Given the description of an element on the screen output the (x, y) to click on. 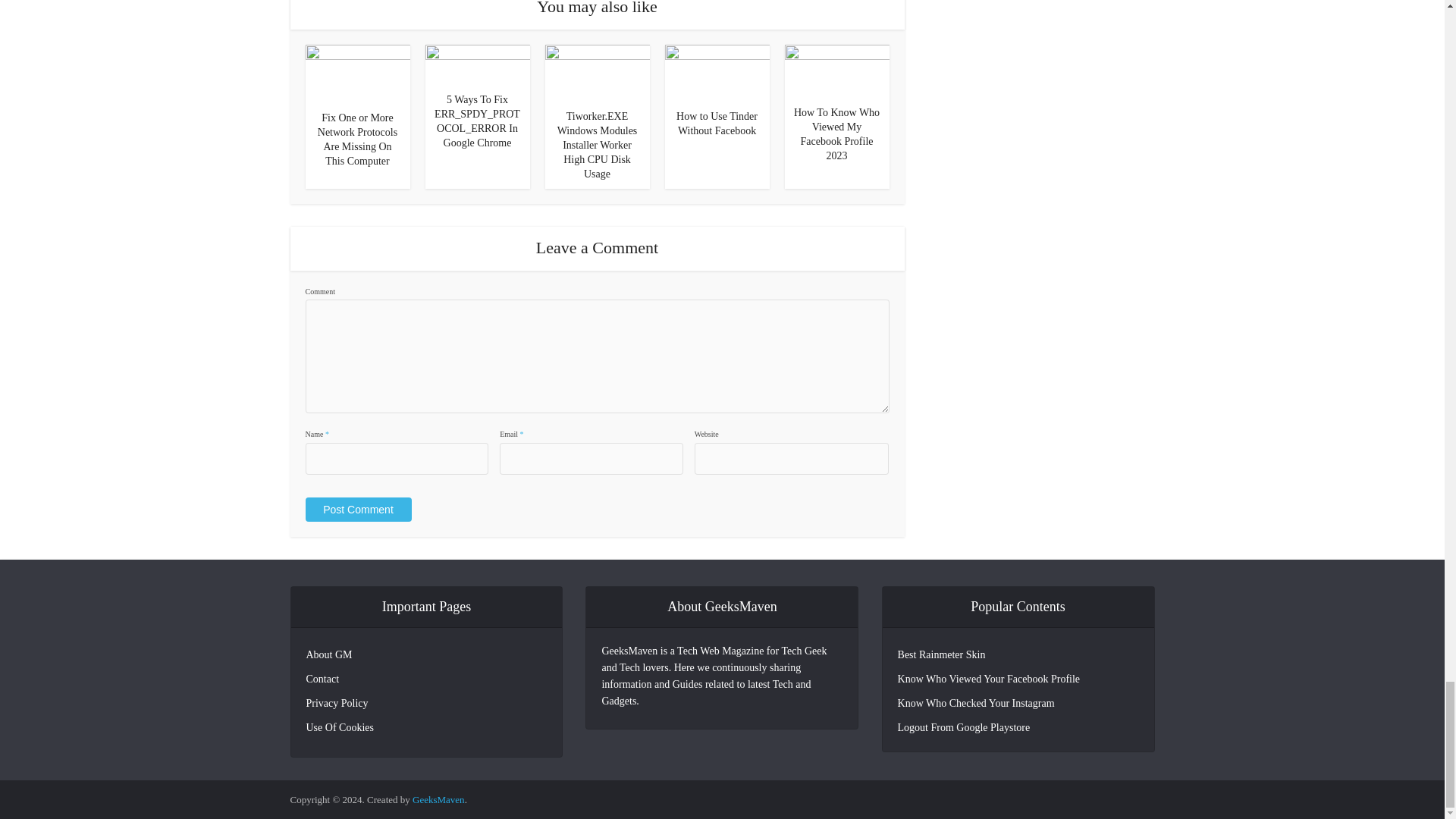
Contact (322, 678)
Post Comment (357, 509)
How To Know Who Viewed My Facebook Profile 2023 (836, 134)
Post Comment (357, 509)
How to Use Tinder Without Facebook (715, 71)
Know Who Viewed Your Facebook Profile (989, 678)
How To Know Who Viewed My Facebook Profile 2023 (836, 134)
Logout From Google Playstore (964, 727)
How To Know Who Viewed My Facebook Profile 2023 (836, 70)
Privacy Policy (336, 703)
About GM (328, 655)
